Given the description of an element on the screen output the (x, y) to click on. 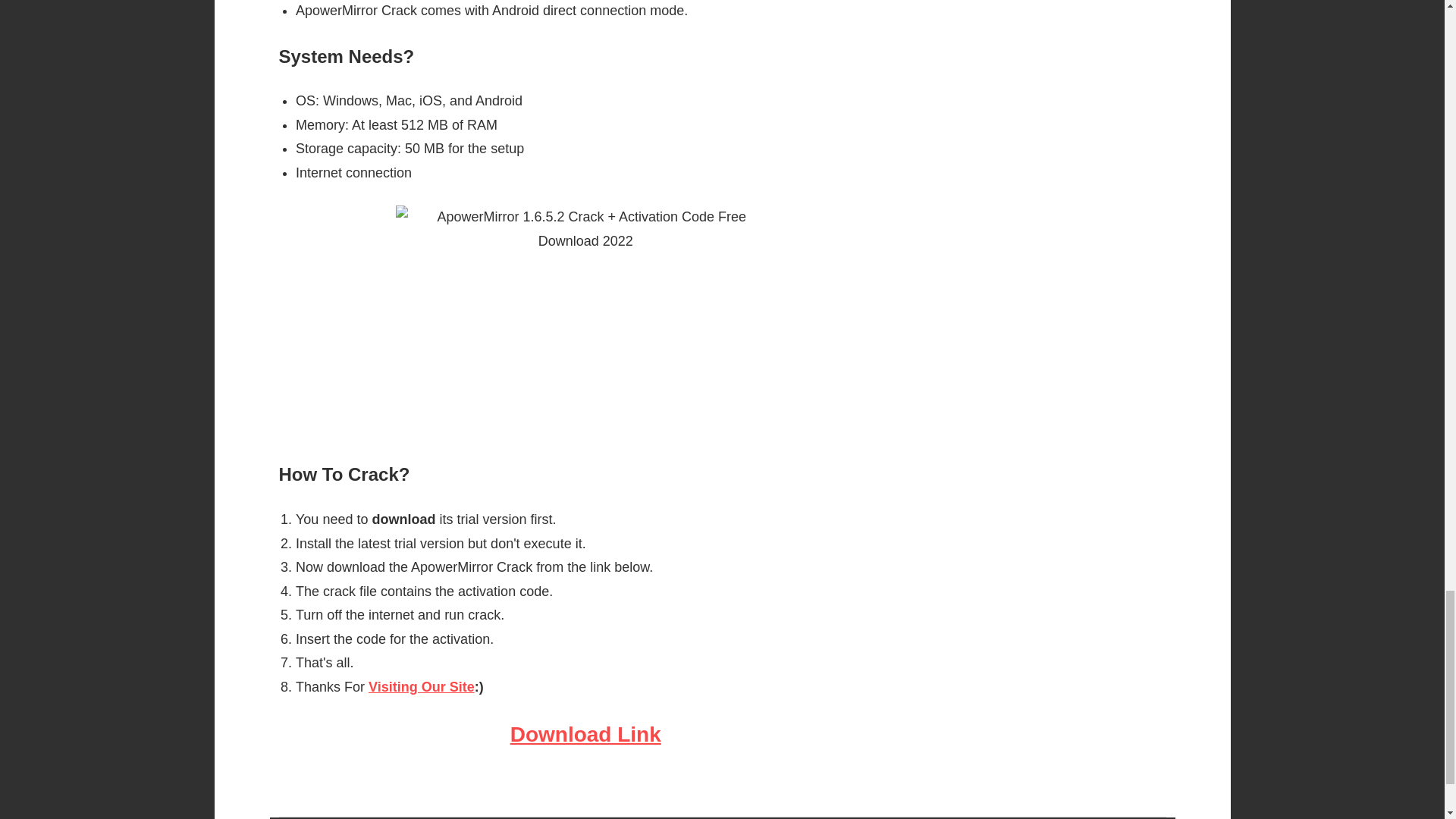
Visiting Our Site (421, 686)
Download Link (586, 734)
